Given the description of an element on the screen output the (x, y) to click on. 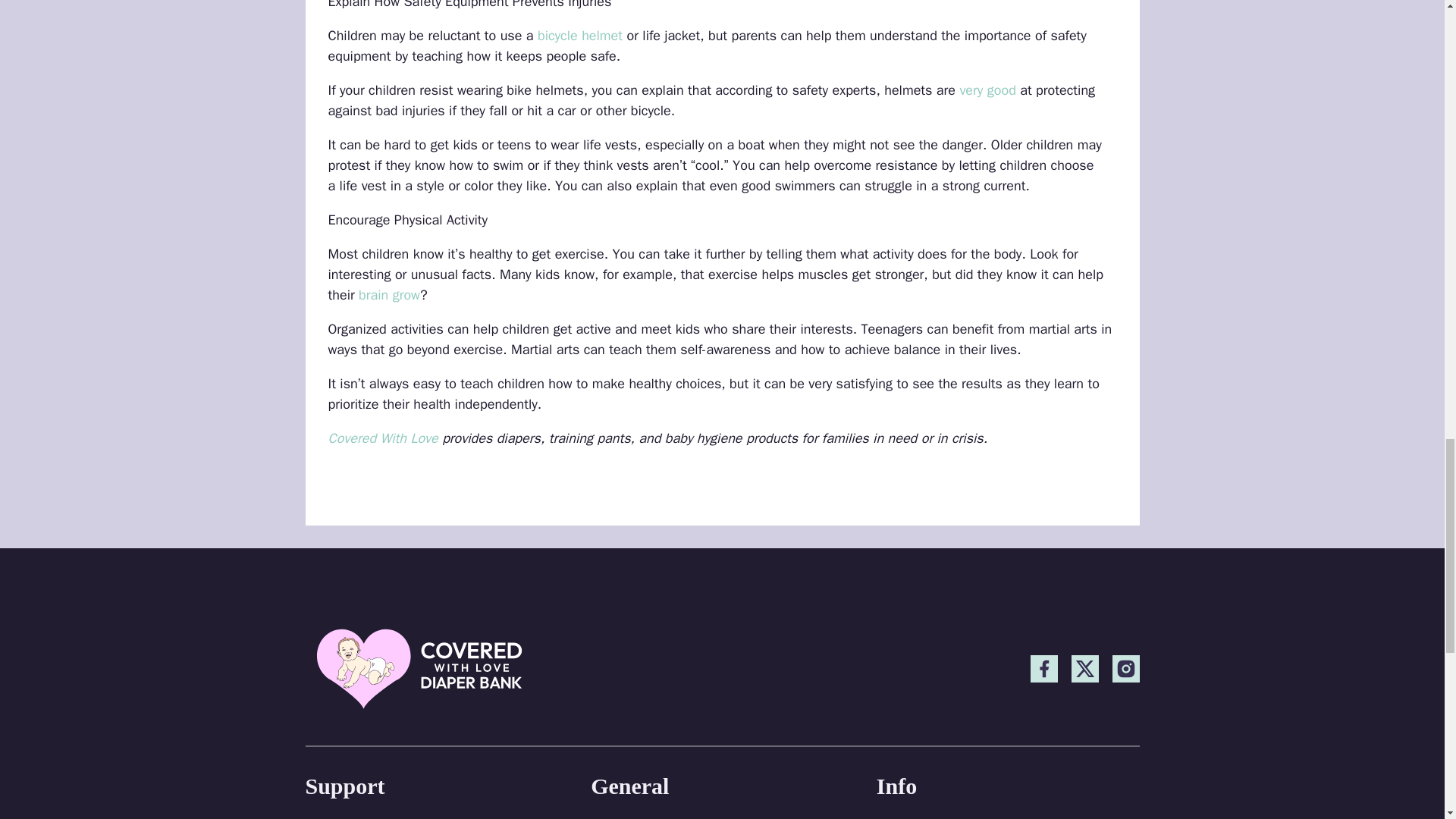
very good (986, 89)
bicycle helmet (580, 35)
Covered With Love (382, 437)
brain grow (389, 294)
